Given the description of an element on the screen output the (x, y) to click on. 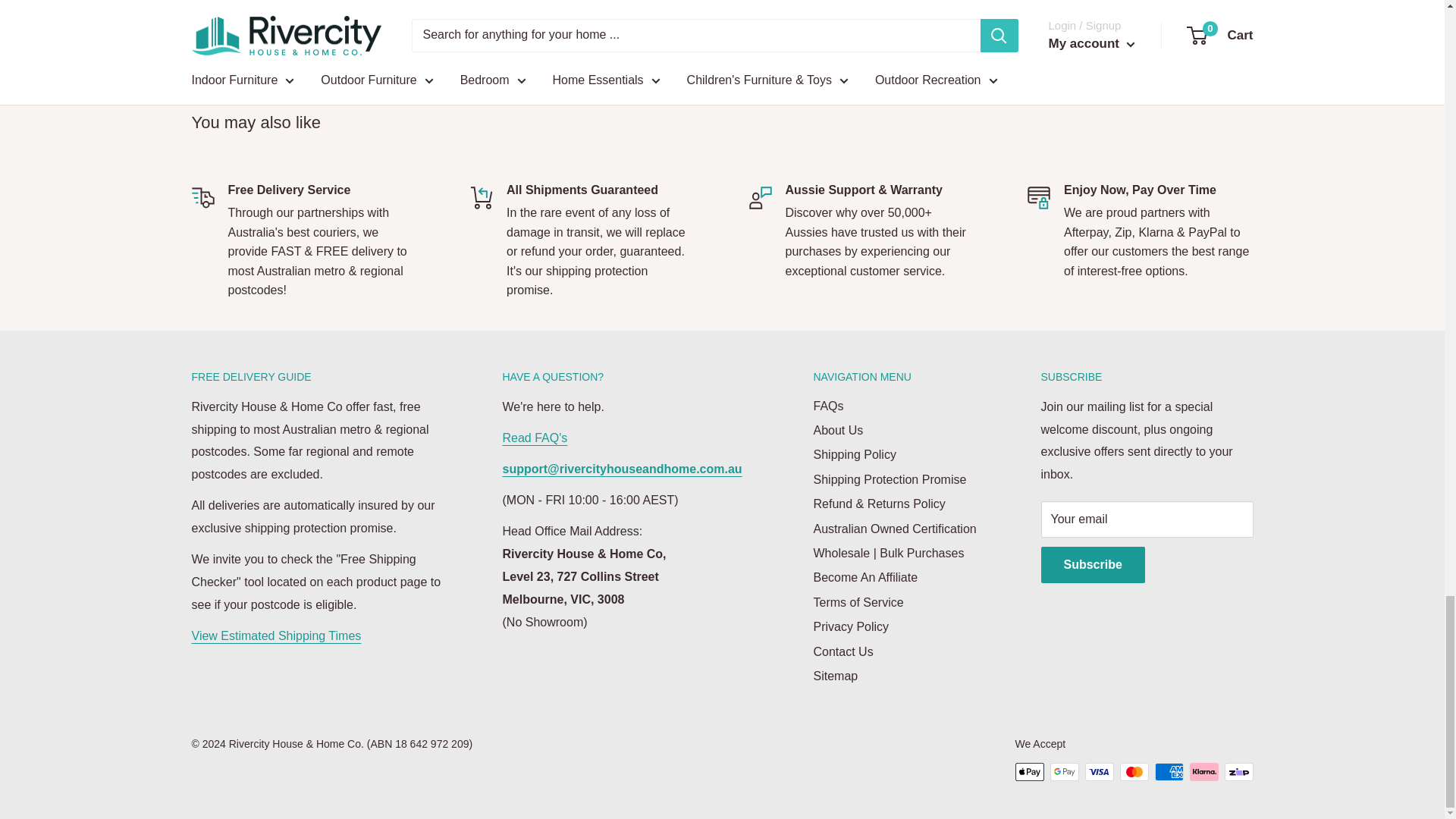
Contact Us (621, 468)
